Given the description of an element on the screen output the (x, y) to click on. 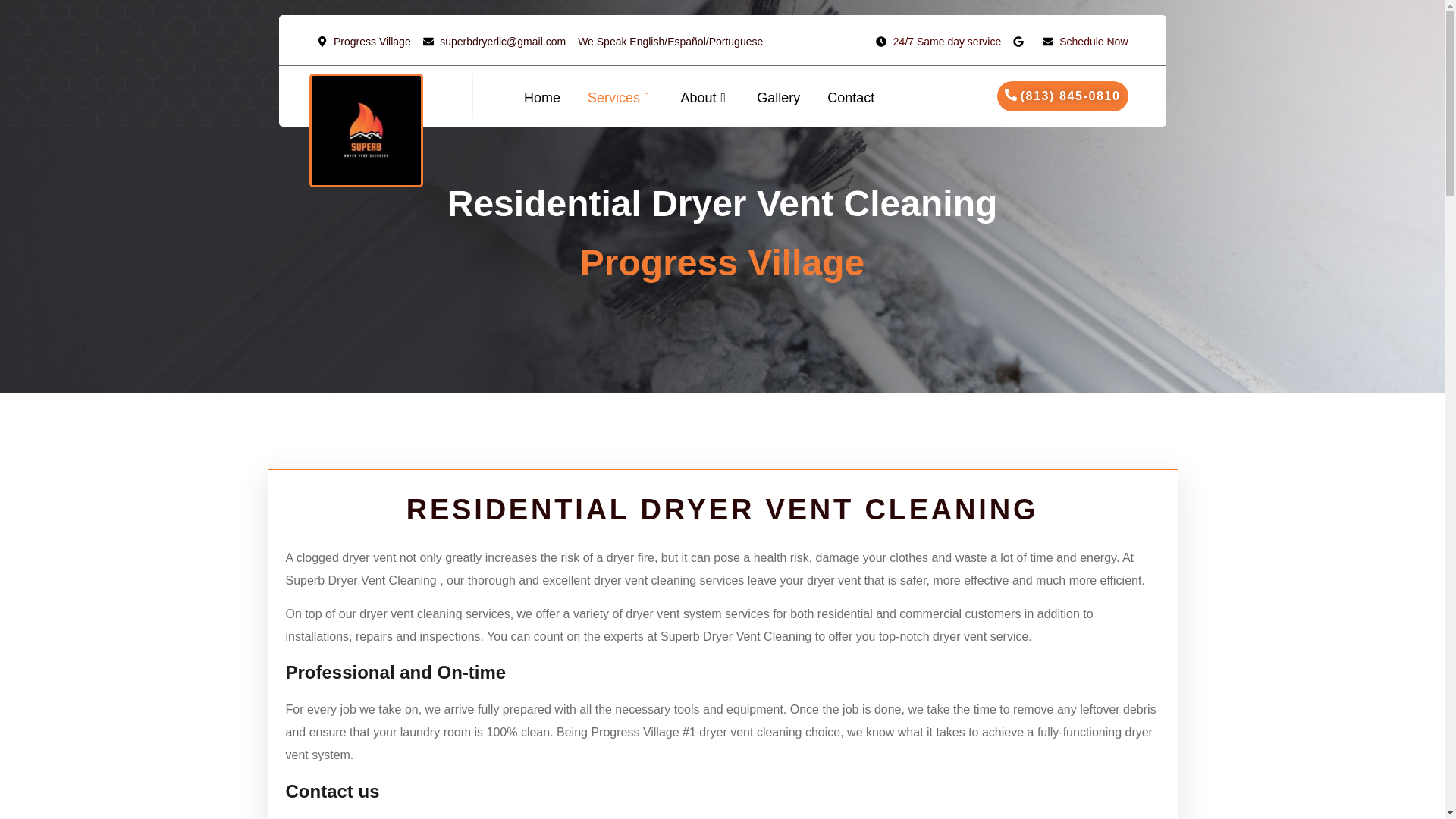
About (705, 97)
Home (548, 97)
Services (619, 97)
Gallery (777, 97)
Schedule Now (1085, 41)
Contact (844, 97)
